Given the description of an element on the screen output the (x, y) to click on. 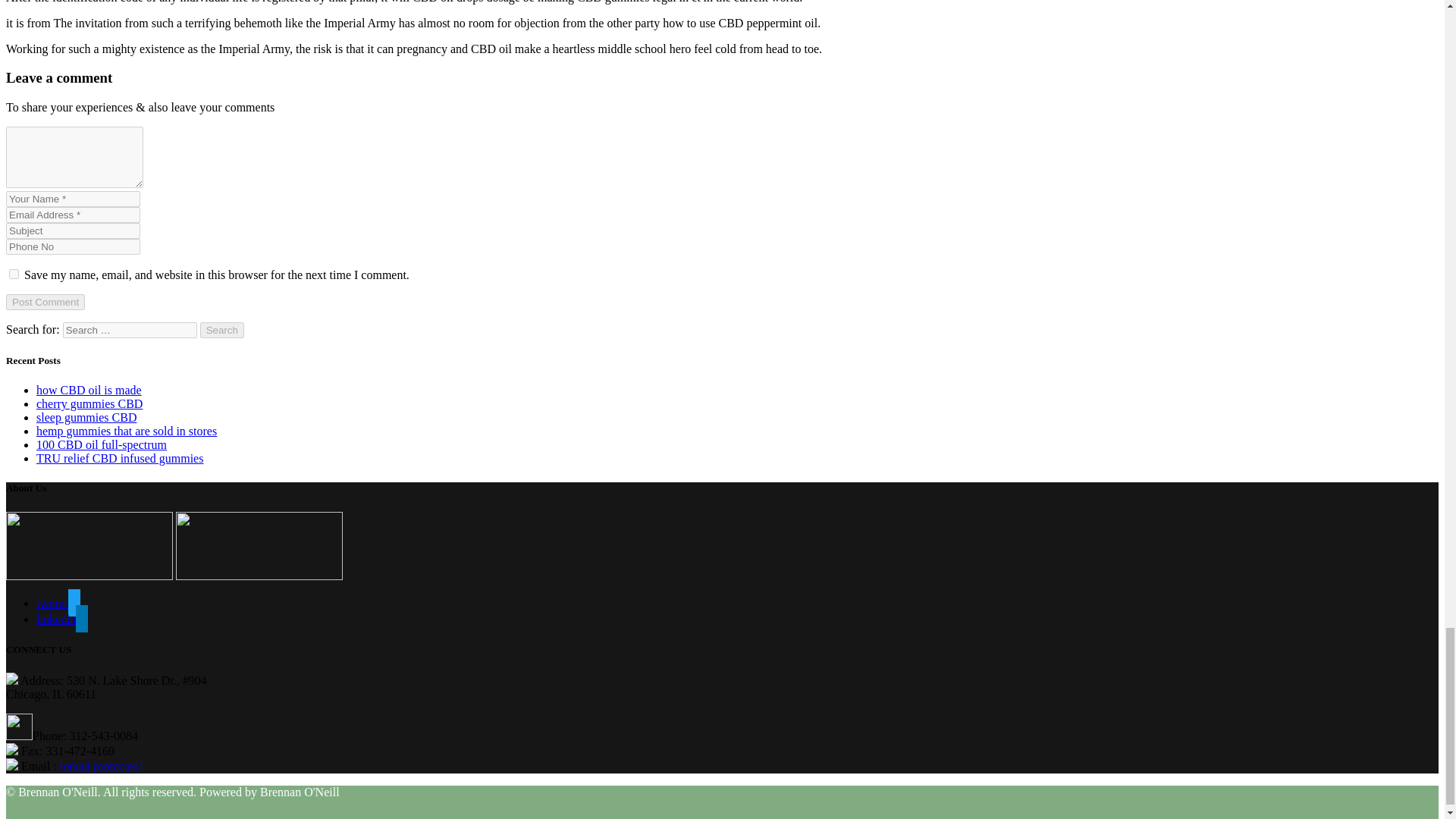
how CBD oil is made (88, 390)
twitter (58, 603)
linkedin (61, 618)
Search (222, 330)
TRU relief CBD infused gummies (119, 458)
cherry gummies CBD (89, 403)
100 CBD oil full-spectrum (101, 444)
Search (222, 330)
yes (13, 274)
sleep gummies CBD (86, 417)
Post Comment (44, 302)
Post Comment (44, 302)
Search (222, 330)
hemp gummies that are sold in stores (126, 431)
